Given the description of an element on the screen output the (x, y) to click on. 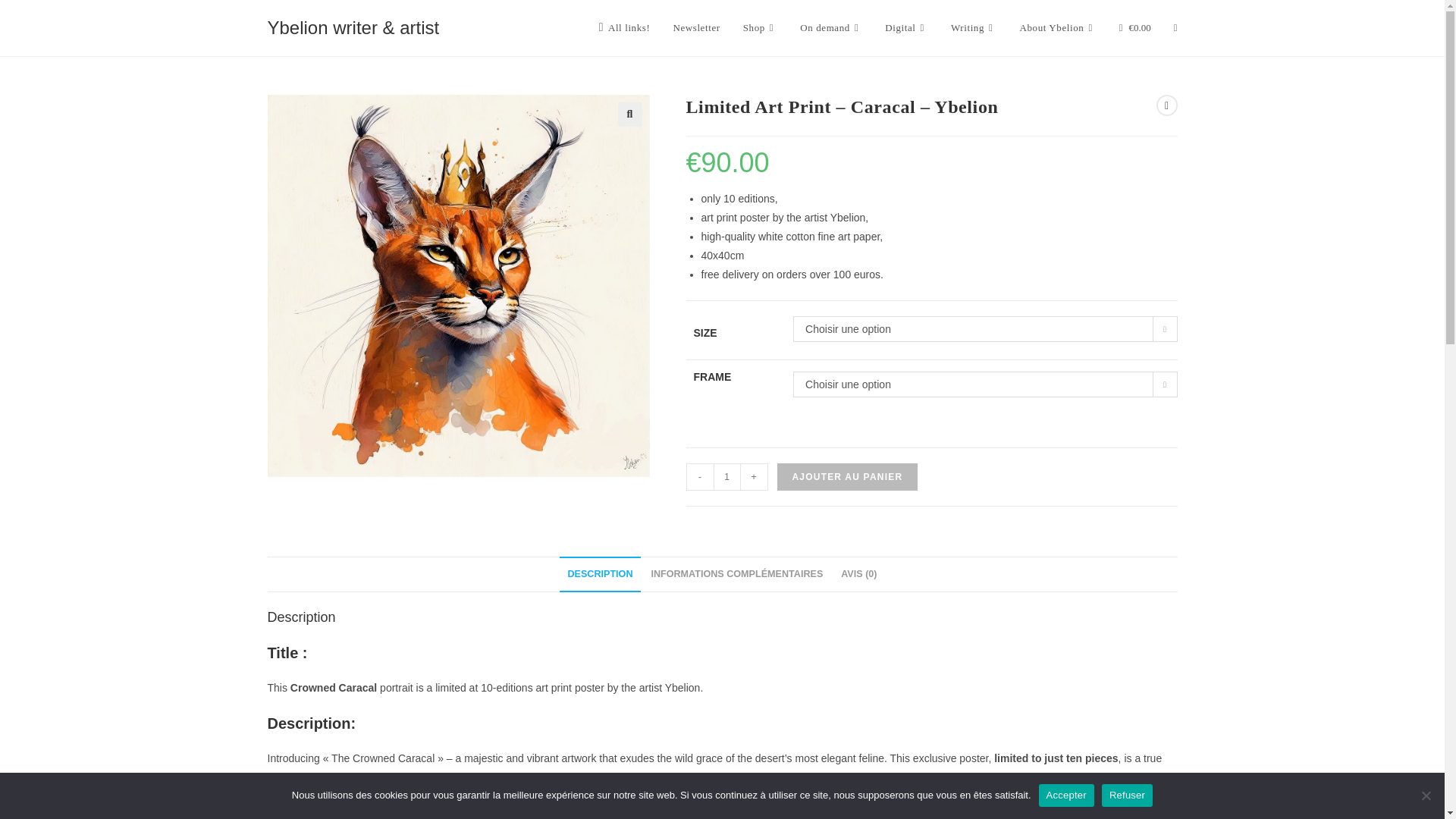
Shop (760, 28)
1 (726, 476)
Writing (973, 28)
Newsletter (695, 28)
All links! (625, 28)
Digital (906, 28)
Refuser (1425, 795)
On demand (831, 28)
About Ybelion (1056, 28)
